Given the description of an element on the screen output the (x, y) to click on. 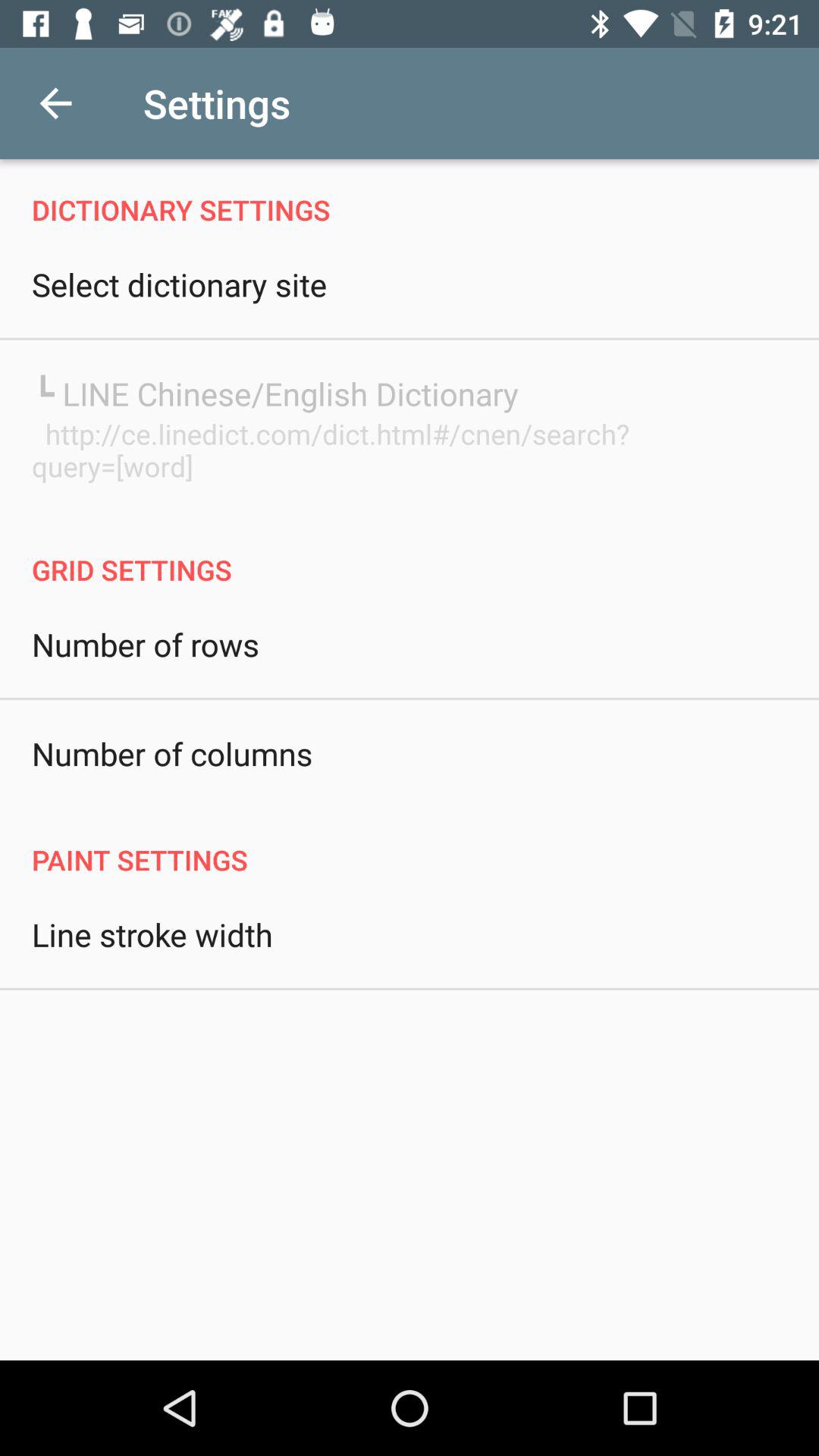
scroll until the paint settings icon (409, 843)
